Given the description of an element on the screen output the (x, y) to click on. 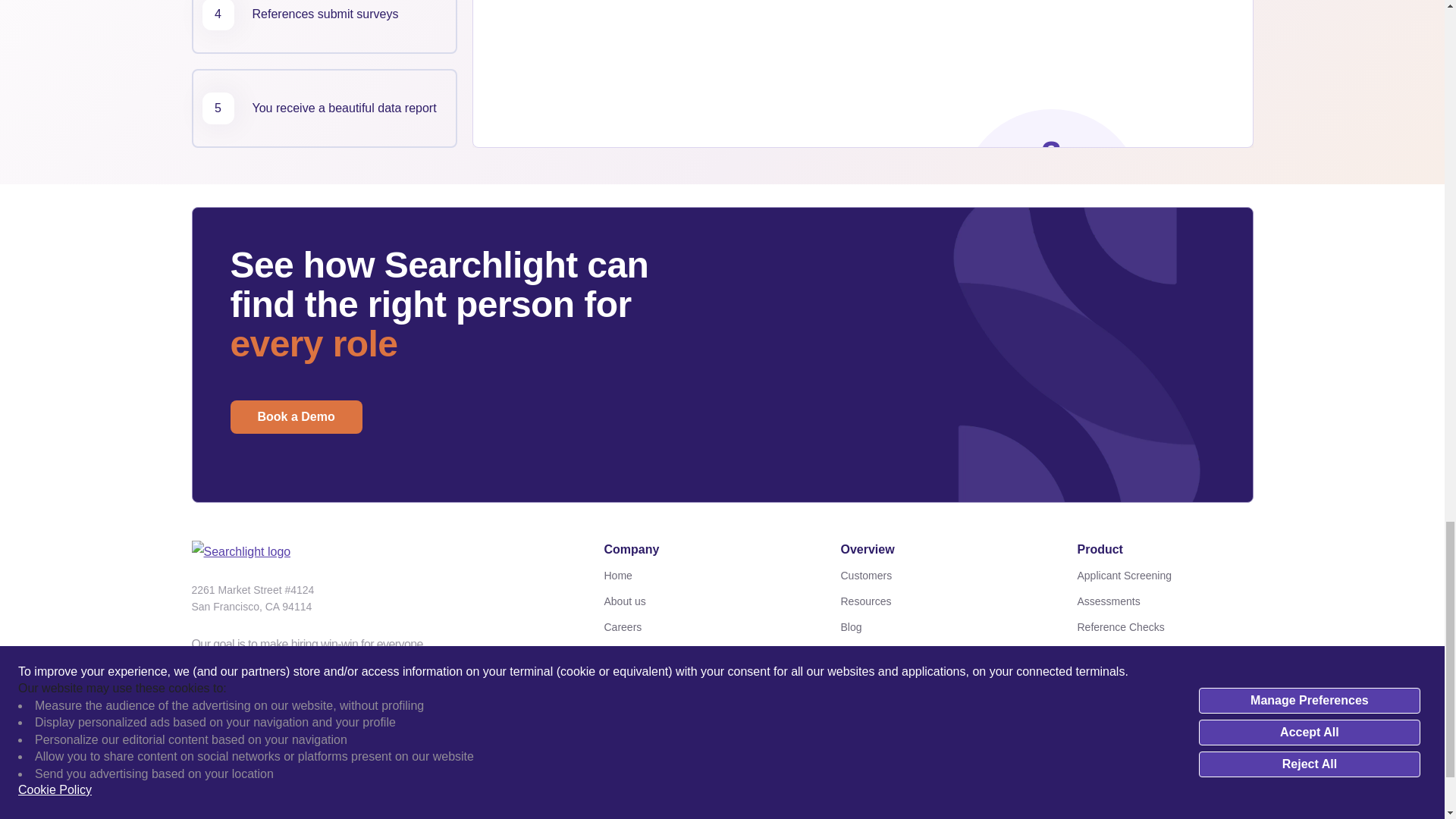
Home (323, 108)
Sitemap (691, 575)
Resources (928, 678)
Blog (928, 601)
Pricing (928, 627)
Customers (928, 652)
Careers (928, 575)
About us (323, 27)
